Given the description of an element on the screen output the (x, y) to click on. 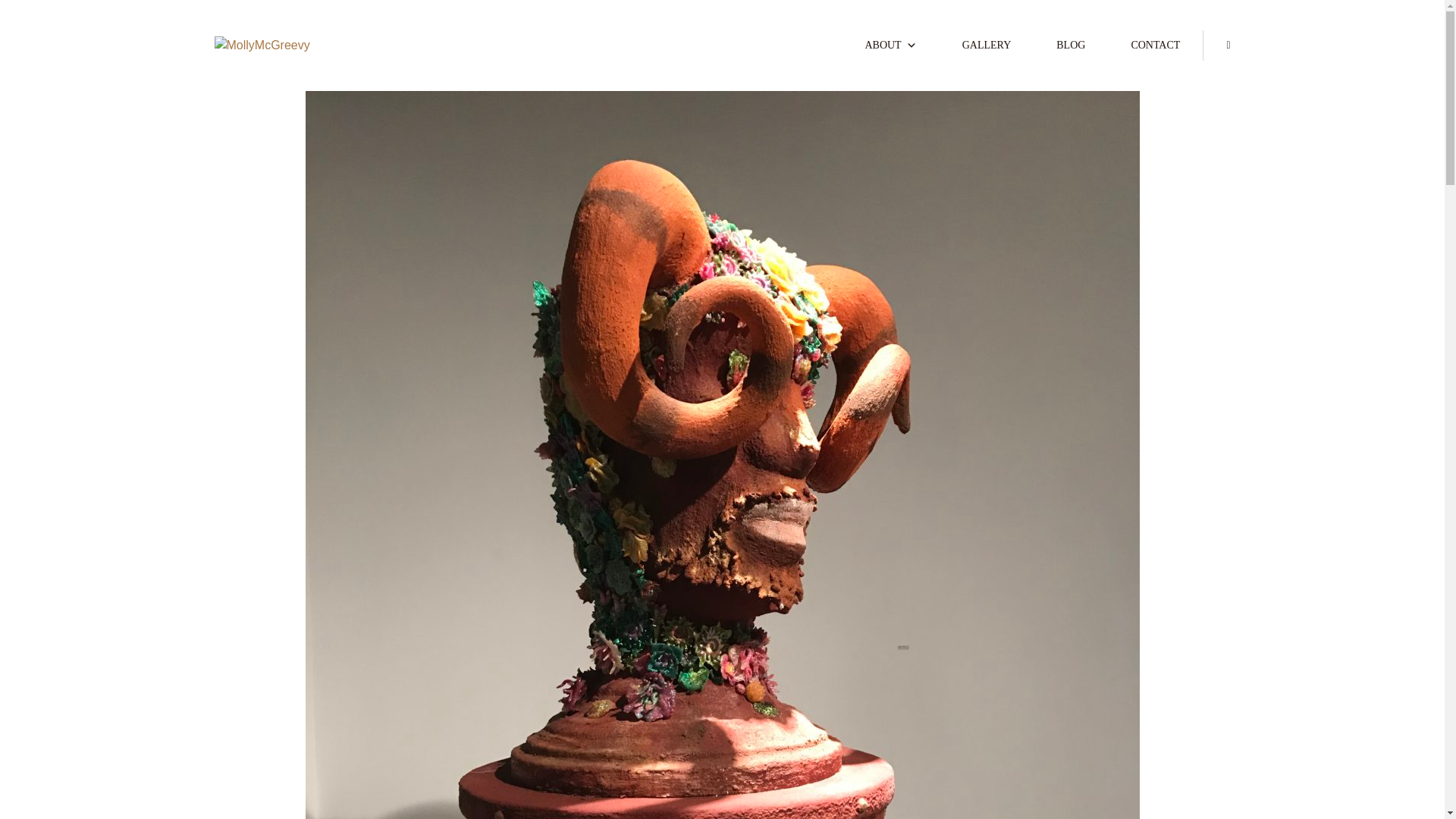
GALLERY (986, 45)
BLOG (1070, 45)
CONTACT (1155, 45)
ABOUT (890, 45)
